Given the description of an element on the screen output the (x, y) to click on. 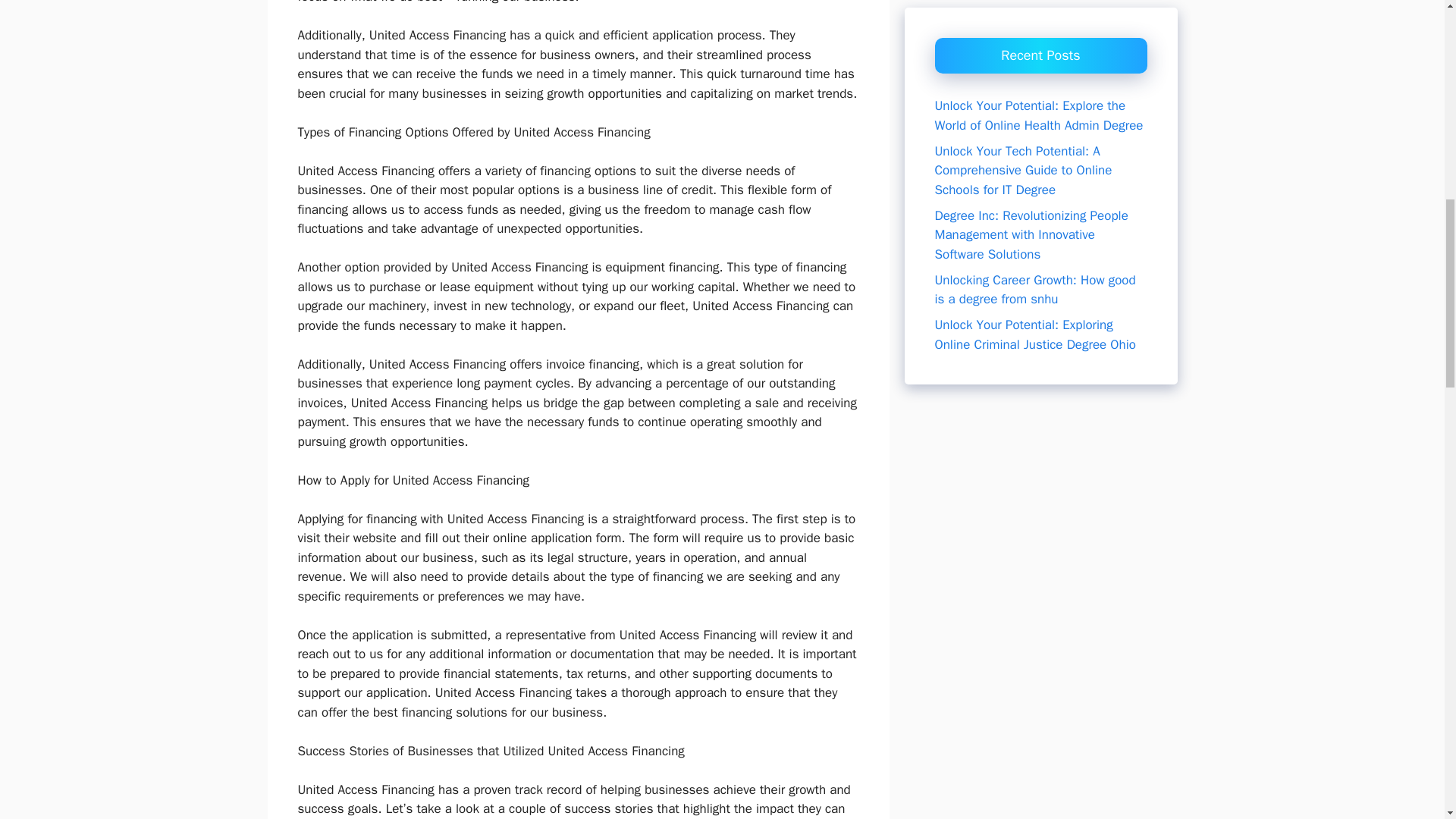
Unlocking Career Growth: How good is a degree from snhu (1034, 249)
